Given the description of an element on the screen output the (x, y) to click on. 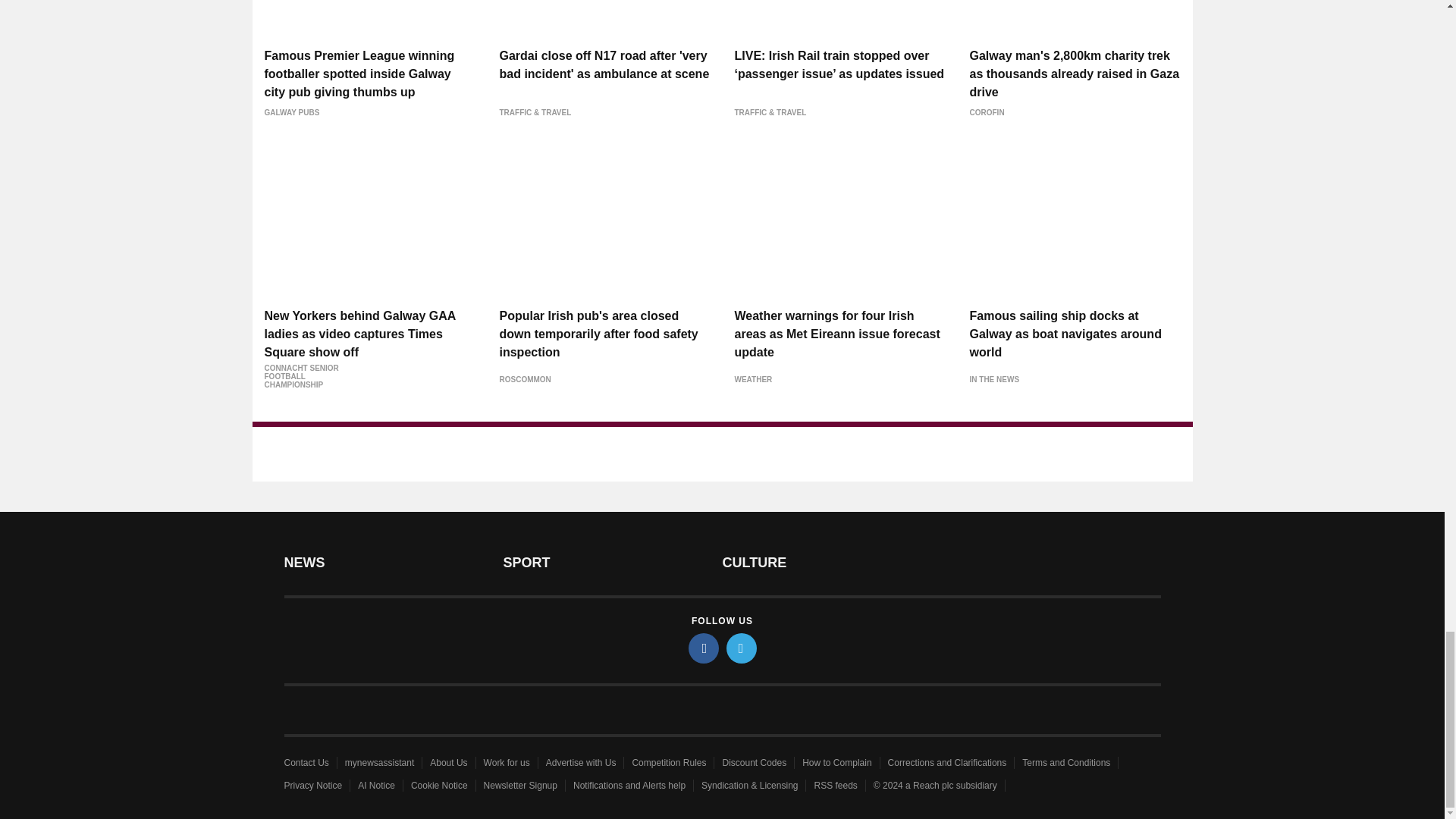
facebook (703, 648)
twitter (741, 648)
